Given the description of an element on the screen output the (x, y) to click on. 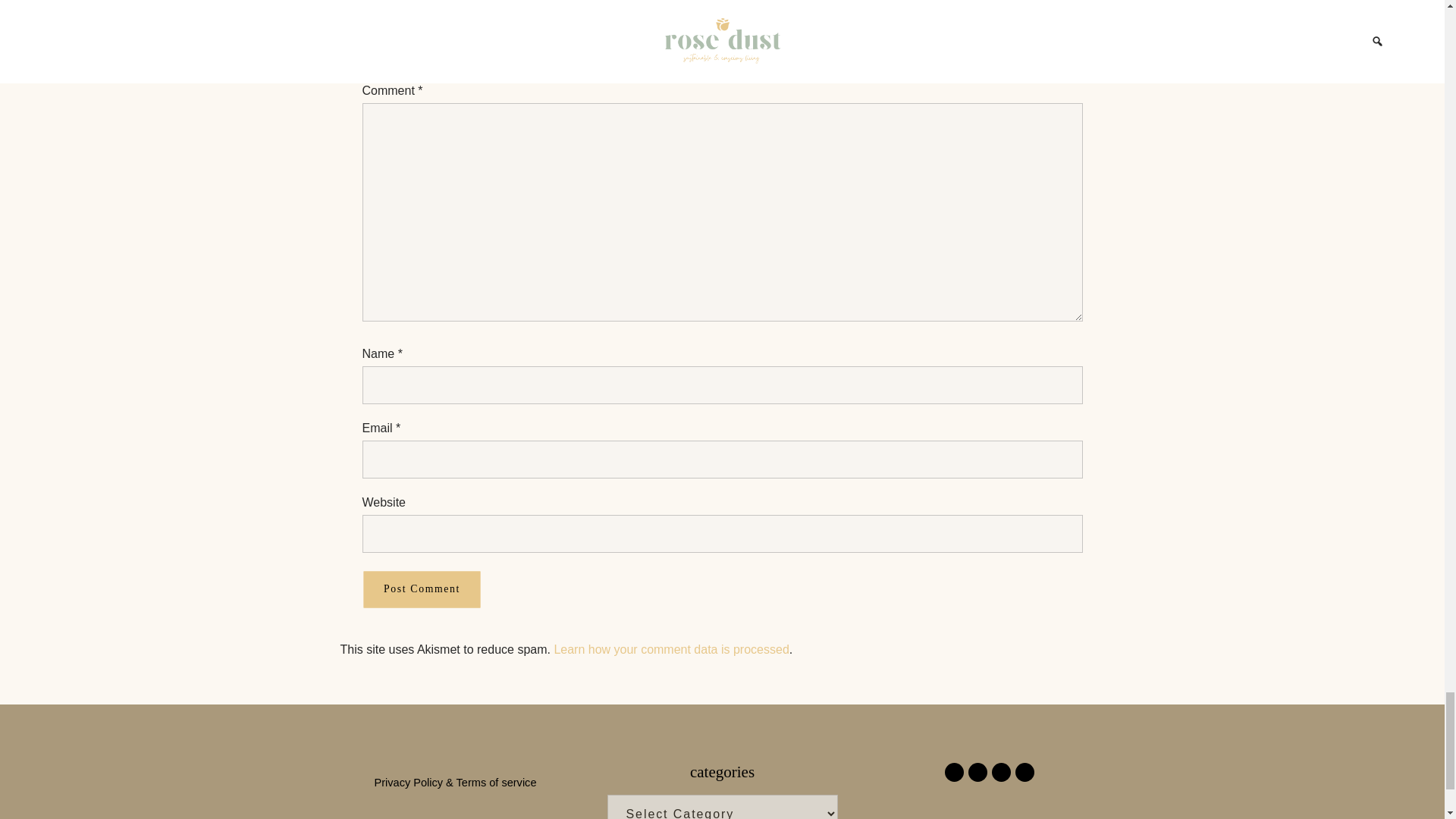
Post Comment (421, 589)
Privacy Policy (409, 782)
Learn how your comment data is processed (671, 649)
Post Comment (421, 589)
Terms of service (497, 782)
